Given the description of an element on the screen output the (x, y) to click on. 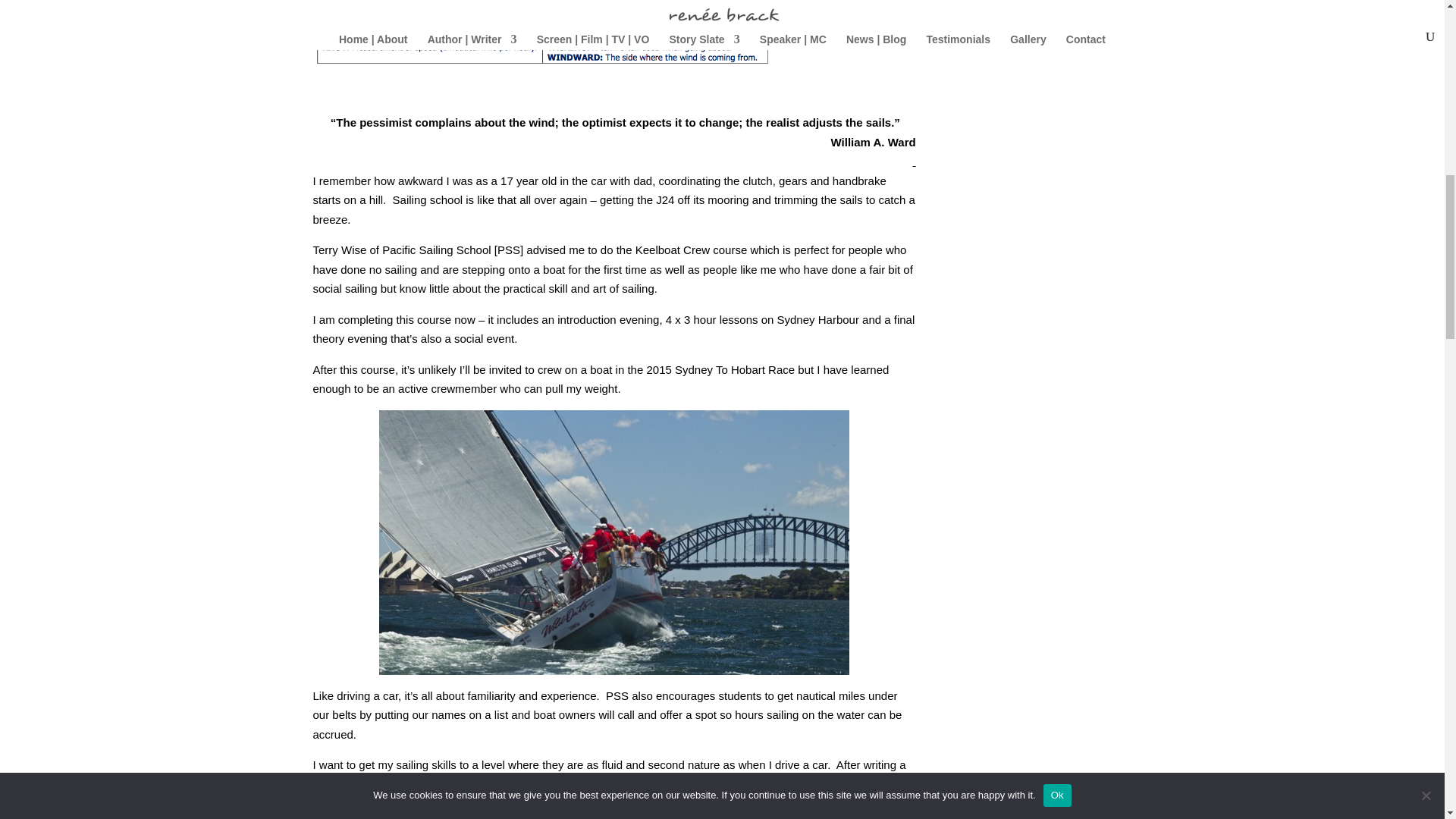
Keelboat Crew course (691, 249)
Pacific Sailing School (435, 249)
Ocean Media (461, 784)
